Given the description of an element on the screen output the (x, y) to click on. 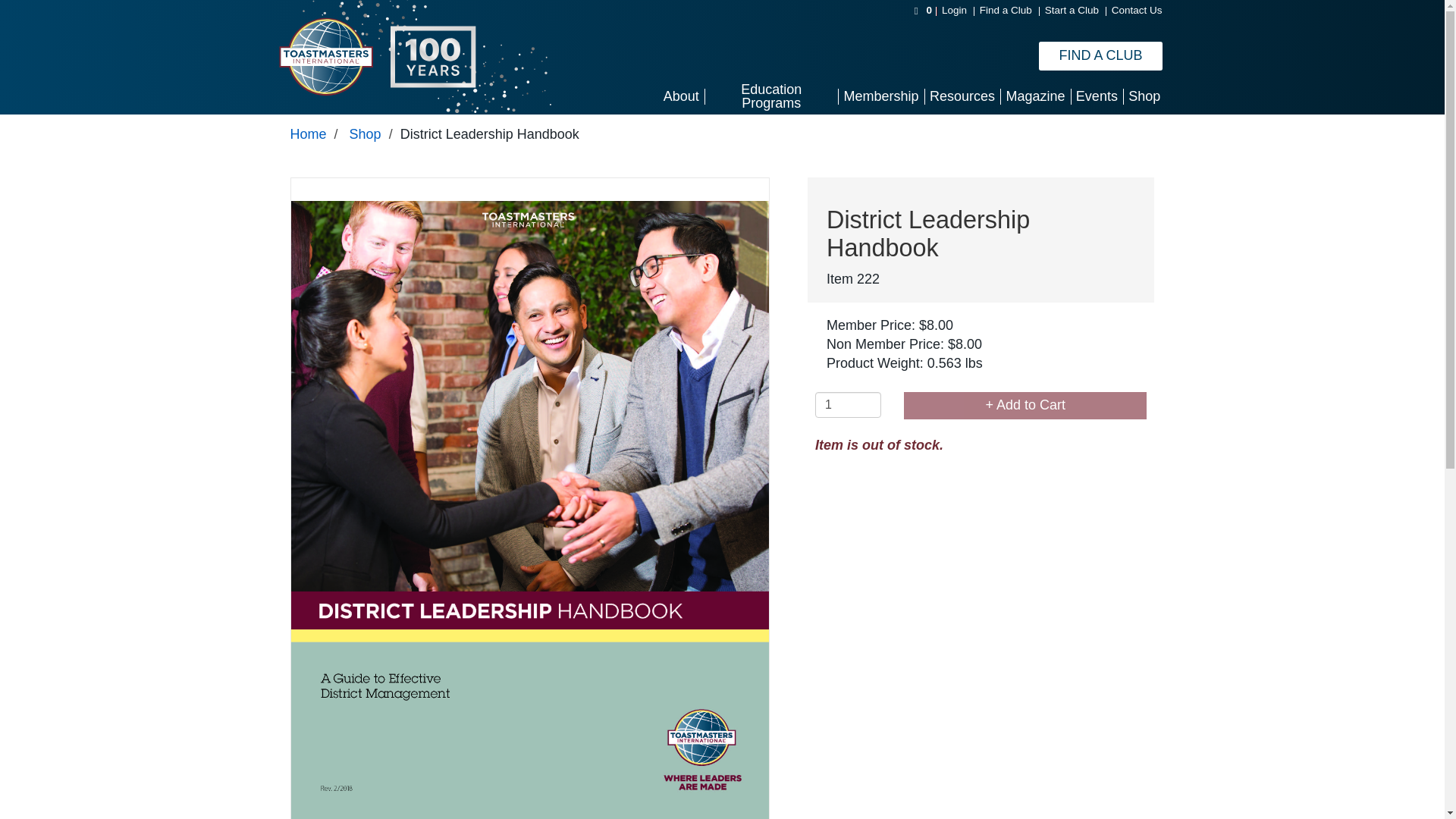
Events (1096, 95)
Find a Club (1005, 9)
Shop (365, 133)
Contact Us (1136, 9)
1 (847, 404)
Resources (962, 95)
Login (954, 9)
Magazine (1035, 95)
Start a Club (1072, 9)
Shop (1144, 95)
